Given the description of an element on the screen output the (x, y) to click on. 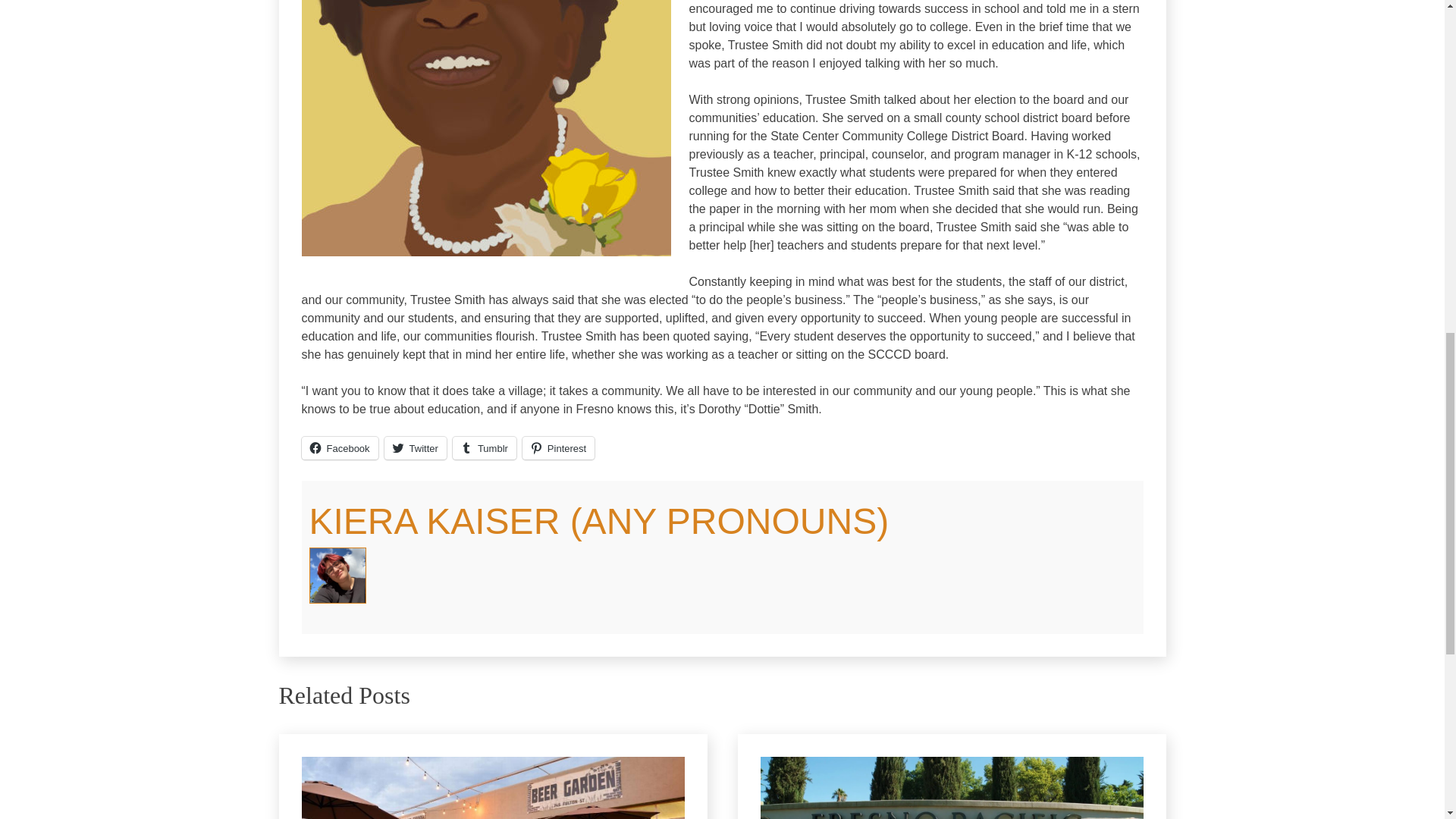
Click to share on Pinterest (558, 447)
Click to share on Tumblr (484, 447)
Click to share on Twitter (415, 447)
Click to share on Facebook (339, 447)
Tumblr (484, 447)
Facebook (339, 447)
Twitter (415, 447)
Pinterest (558, 447)
